Given the description of an element on the screen output the (x, y) to click on. 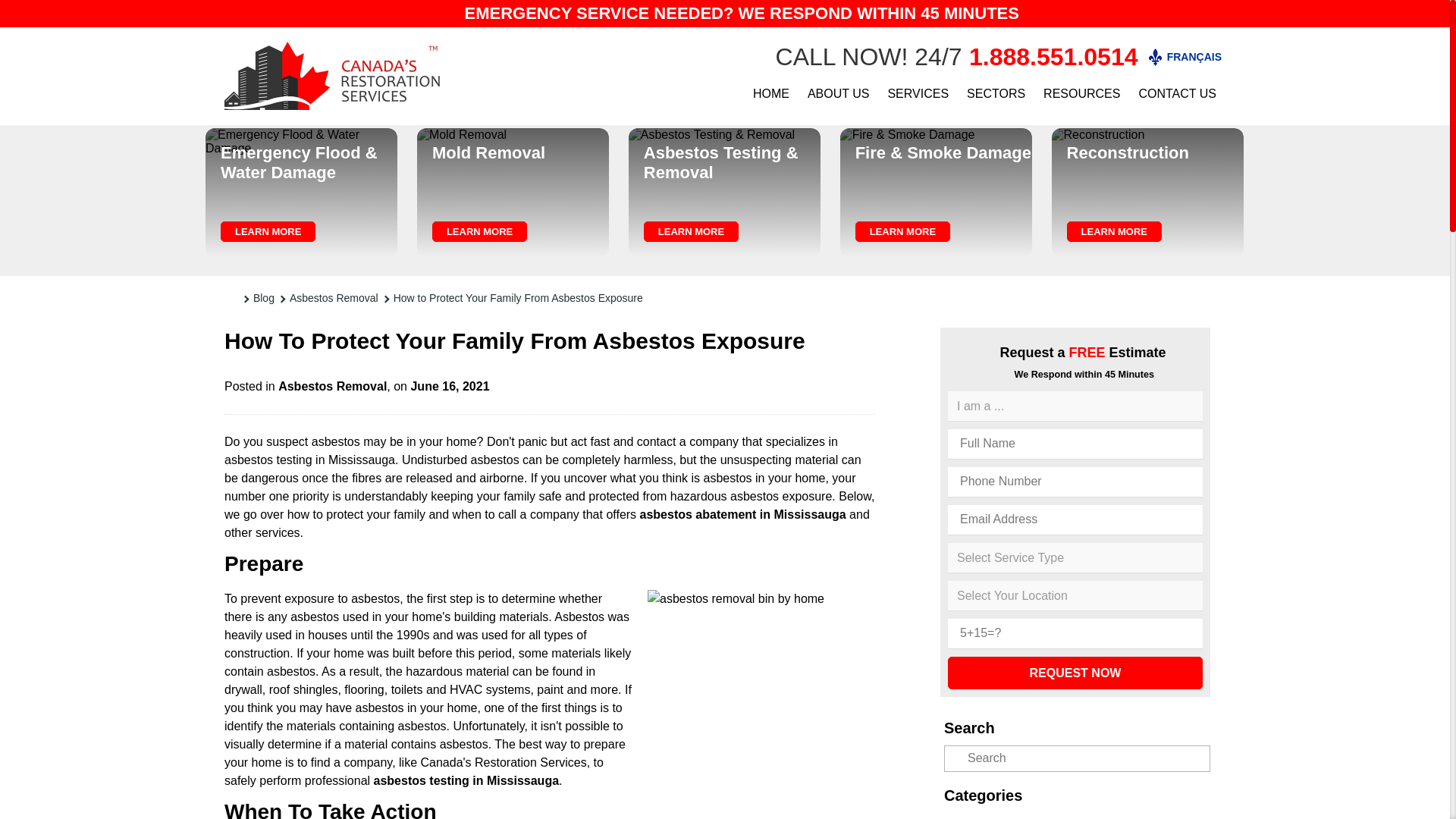
RESOURCES (1081, 93)
SERVICES (917, 93)
ABOUT US (838, 93)
SECTORS (995, 93)
asbestos removal bin by home (761, 703)
CONTACT US (1177, 93)
HOME (770, 93)
1.888.551.0514 (1053, 56)
